Given the description of an element on the screen output the (x, y) to click on. 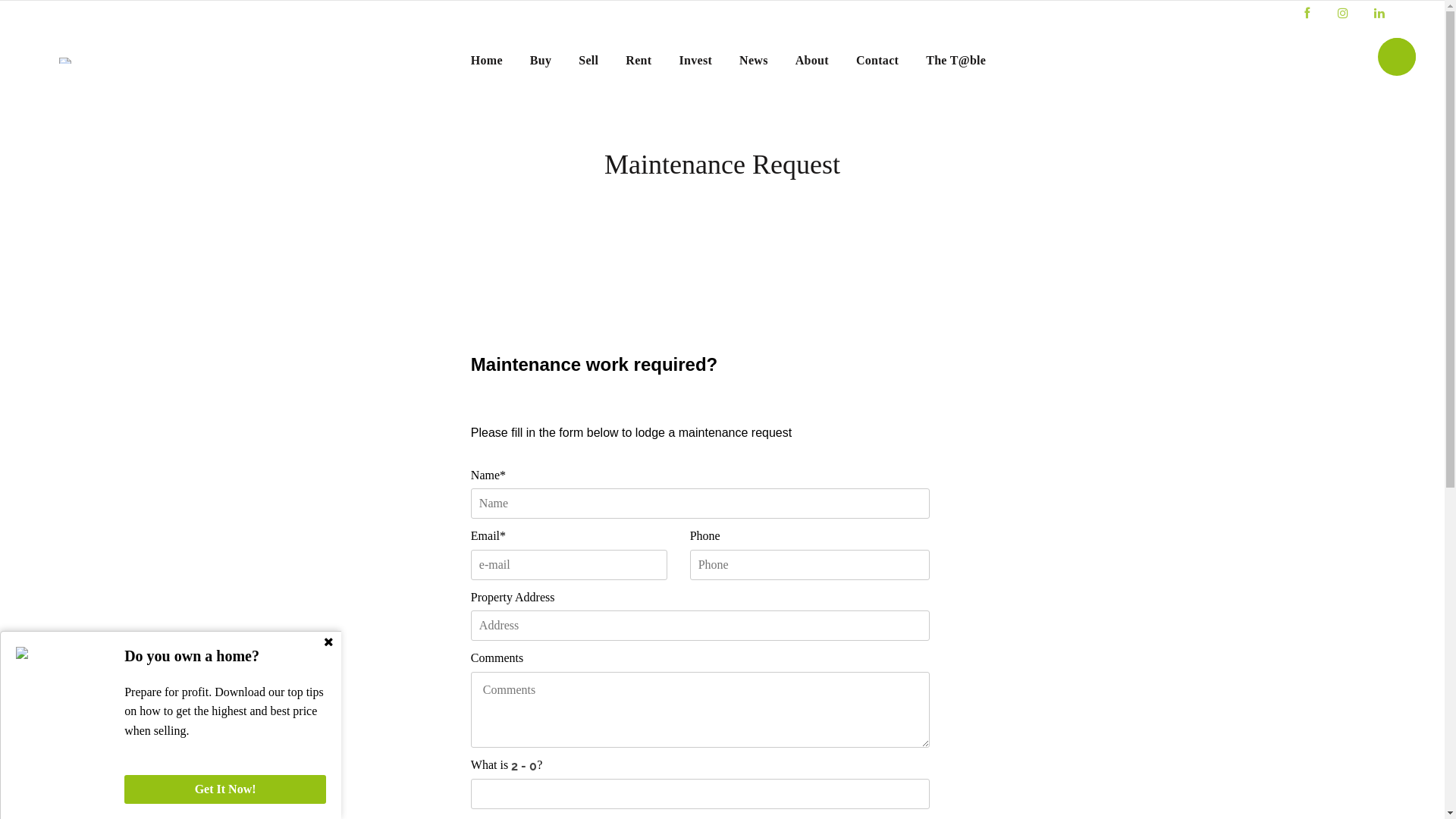
Buy Element type: text (540, 60)
The T@ble Element type: text (955, 60)
About Element type: text (811, 60)
Home Element type: text (486, 60)
News Element type: text (753, 60)
Contact Element type: text (877, 60)
Sell Element type: text (588, 60)
Get It Now! Element type: text (225, 789)
Rent Element type: text (638, 60)
Invest Element type: text (695, 60)
